Given the description of an element on the screen output the (x, y) to click on. 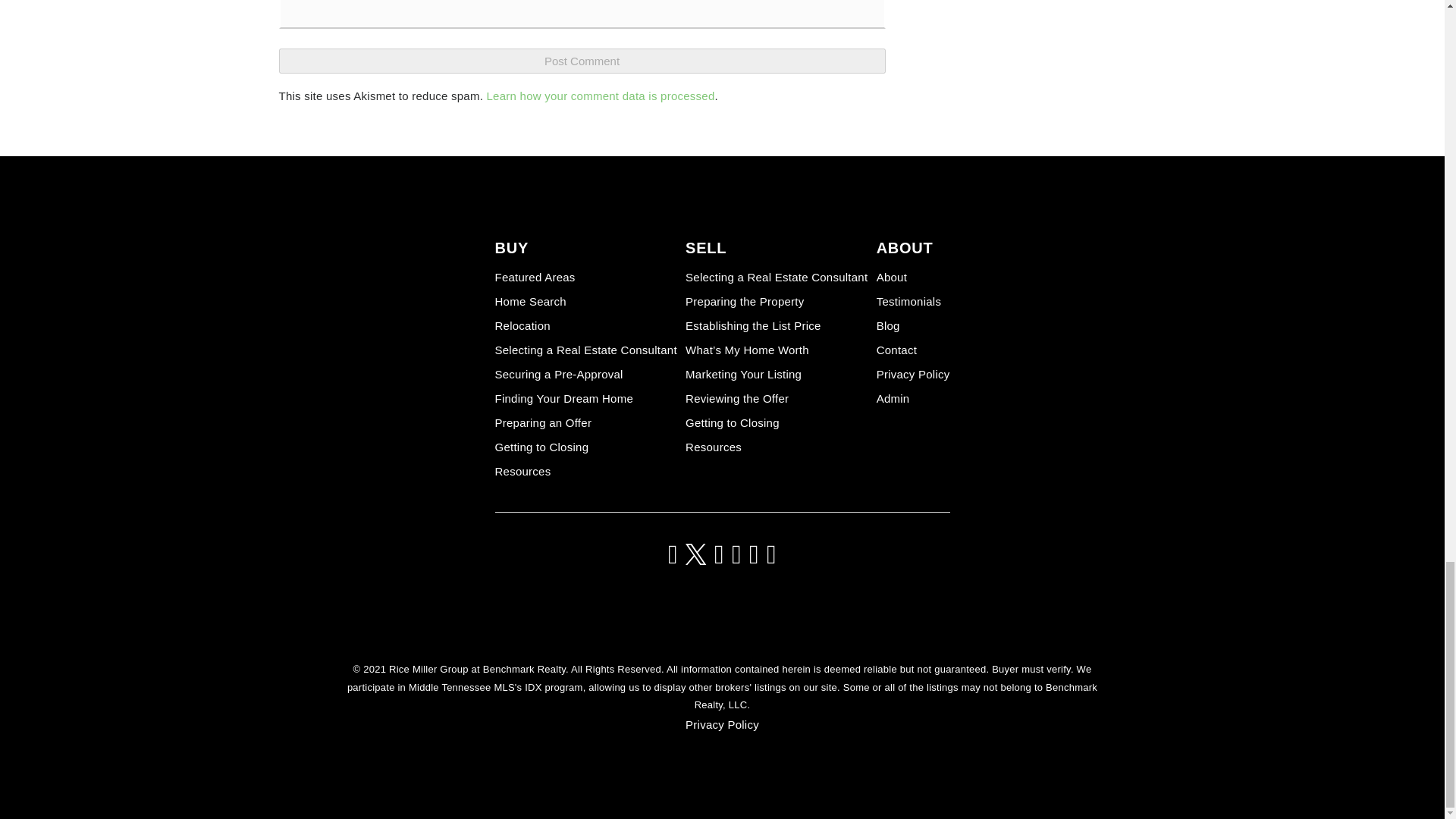
Post Comment (582, 60)
